Given the description of an element on the screen output the (x, y) to click on. 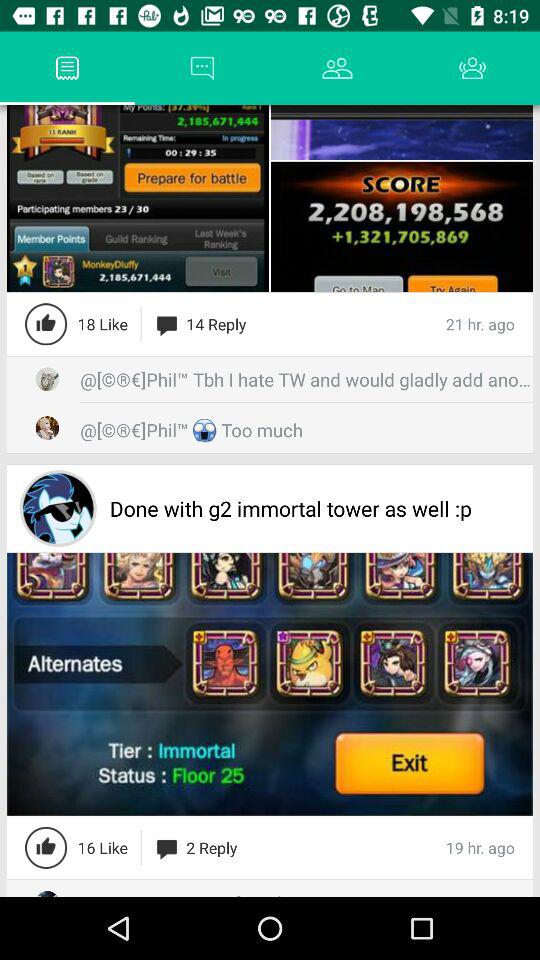
like the page (46, 847)
